Given the description of an element on the screen output the (x, y) to click on. 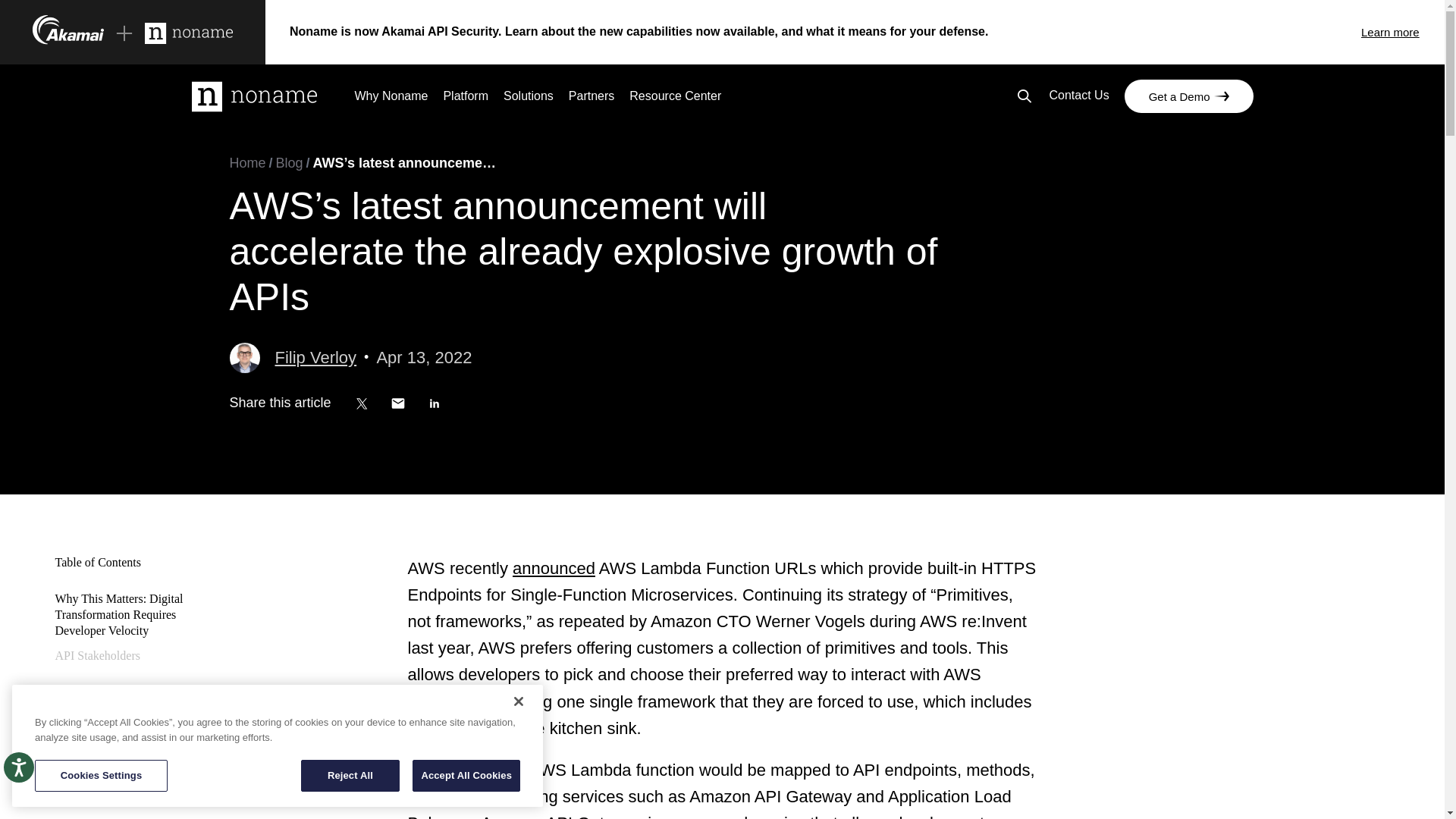
Learn more (1402, 31)
Accessibility (34, 782)
Contact Us (1078, 97)
Platform (464, 98)
Partners (591, 98)
Why Noname (391, 98)
Solutions (528, 98)
Get a Demo (1188, 96)
Resource Center (674, 98)
